Given the description of an element on the screen output the (x, y) to click on. 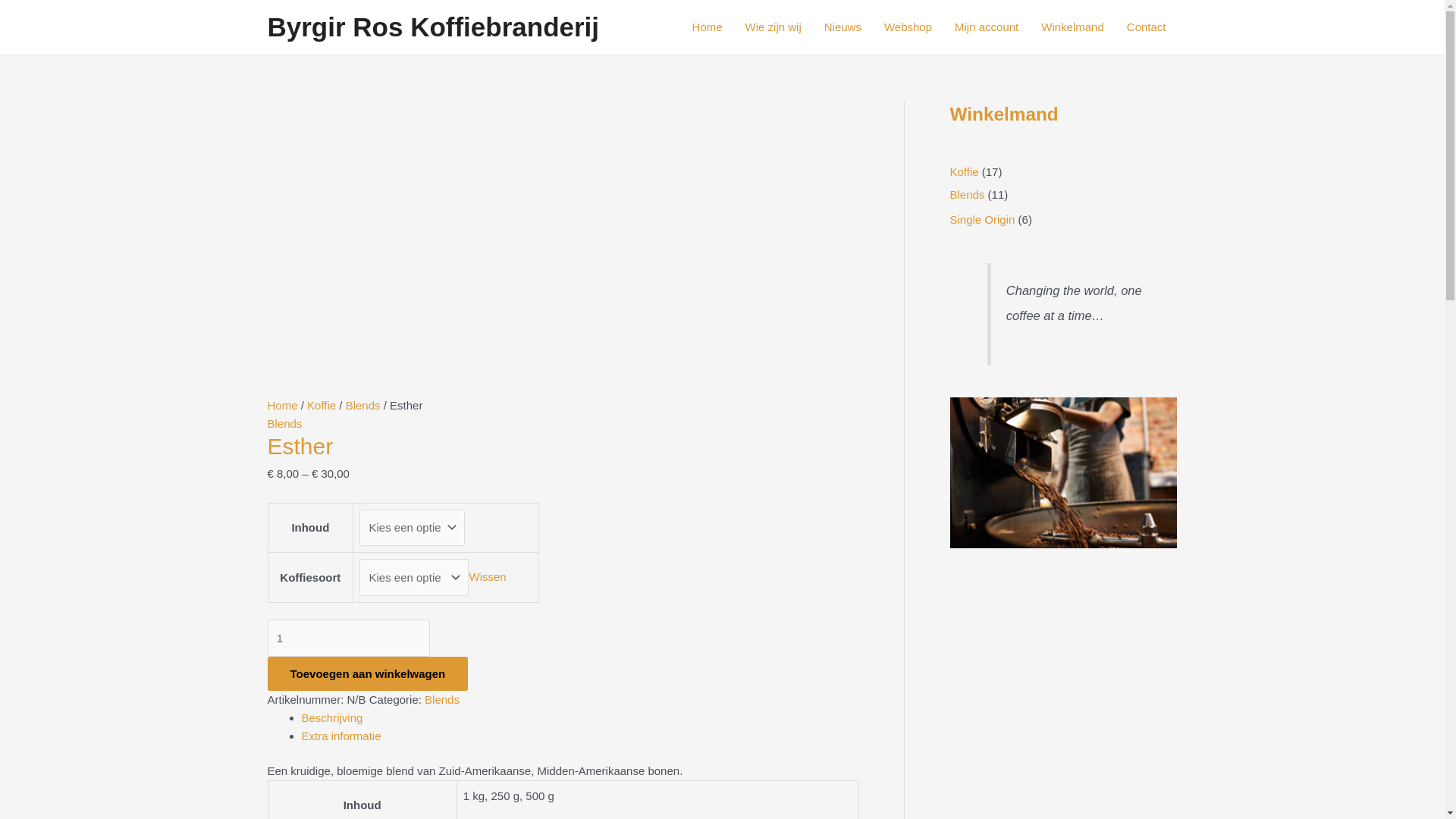
Blends Element type: text (441, 699)
Toevoegen aan winkelwagen Element type: text (366, 673)
Wie zijn wij Element type: text (773, 26)
Byrgir Ros Koffiebranderij Element type: text (432, 26)
Blends Element type: text (283, 423)
Koffie Element type: text (321, 404)
Wissen Element type: text (486, 576)
Home Element type: text (707, 26)
Mijn account Element type: text (986, 26)
Blends Element type: text (966, 194)
Winkelmand Element type: text (1072, 26)
Koffie Element type: text (963, 171)
Nieuws Element type: text (842, 26)
Single Origin Element type: text (981, 219)
Home Element type: text (281, 404)
Contact Element type: text (1146, 26)
Beschrijving Element type: text (332, 717)
Blends Element type: text (362, 404)
Extra informatie Element type: text (341, 735)
Webshop Element type: text (907, 26)
